Given the description of an element on the screen output the (x, y) to click on. 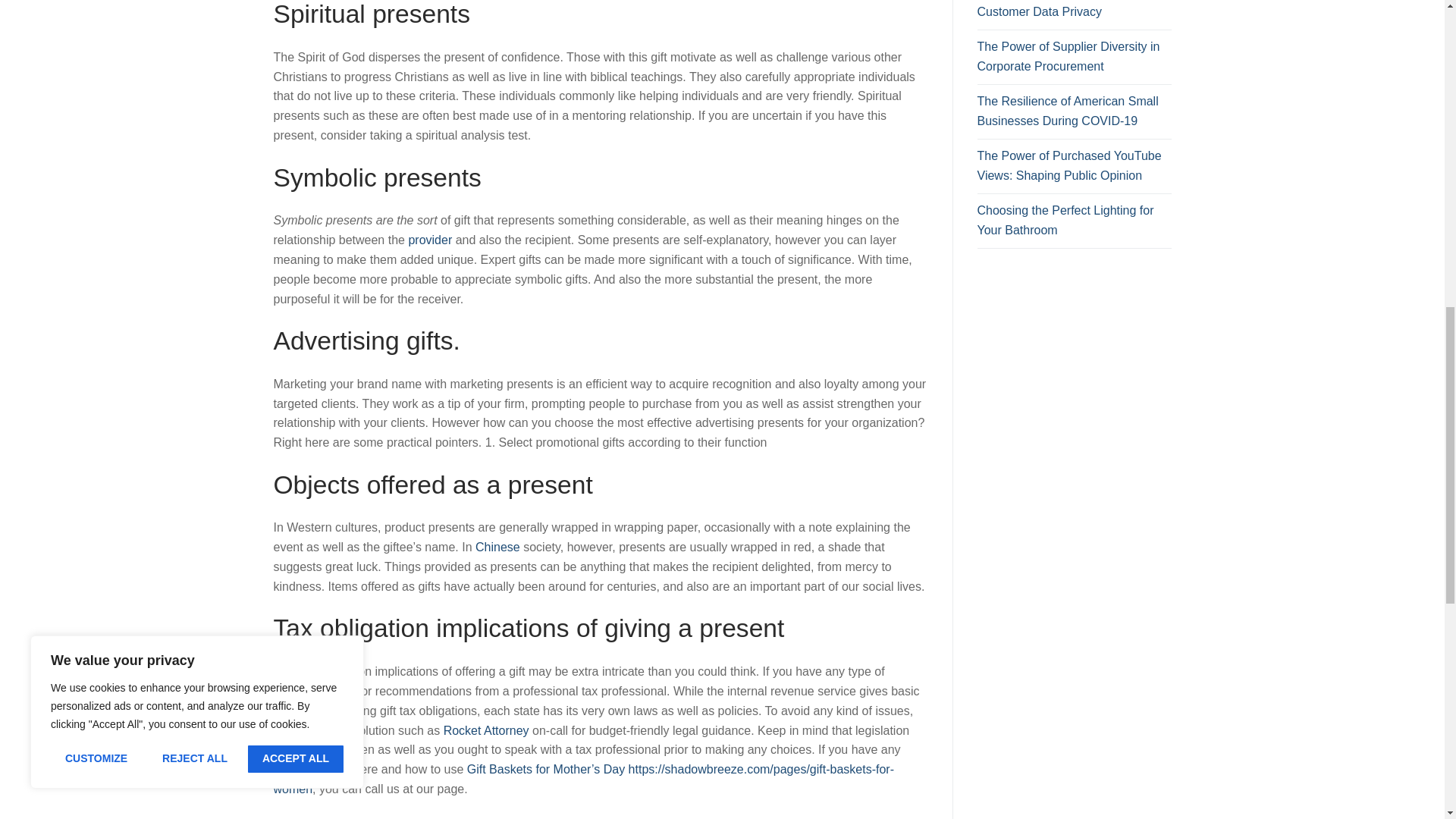
Chinese (497, 546)
Rocket Attorney (486, 730)
provider (429, 239)
